Given the description of an element on the screen output the (x, y) to click on. 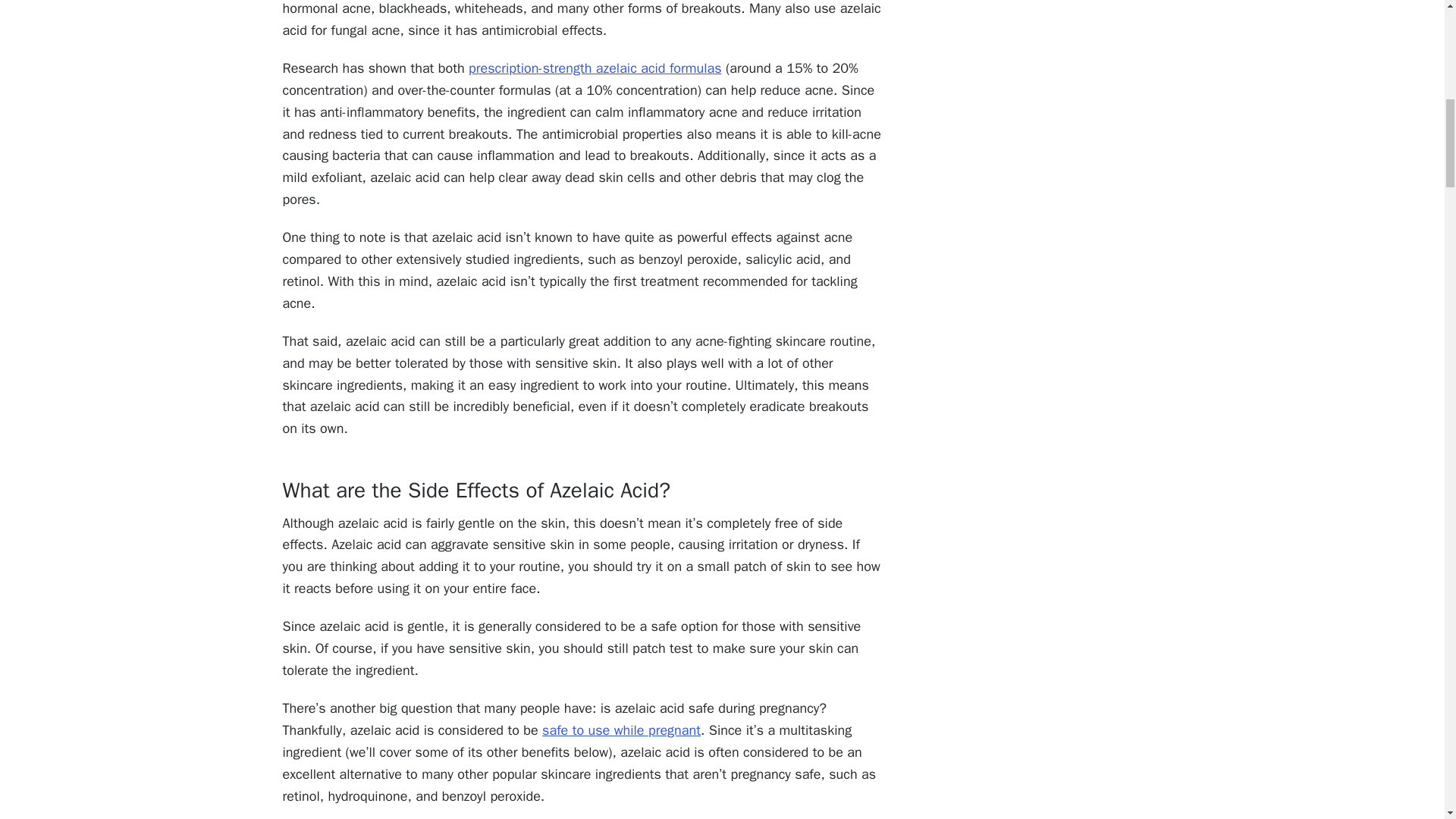
safe to use while pregnant (620, 729)
prescription-strength azelaic acid formulas (595, 67)
Scroll back to top (1406, 720)
